Given the description of an element on the screen output the (x, y) to click on. 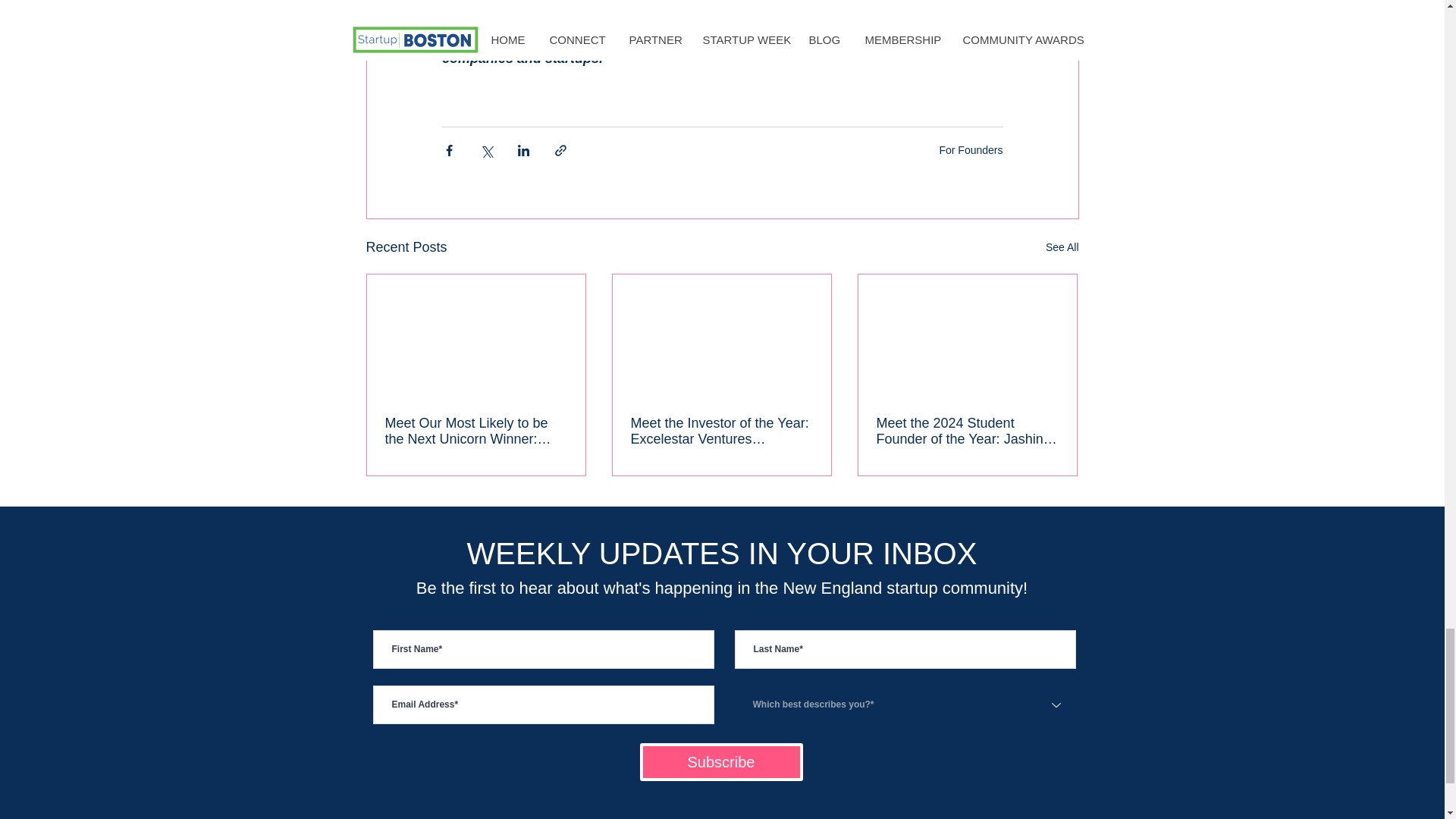
For Founders (971, 150)
SBS Comms (668, 39)
